Given the description of an element on the screen output the (x, y) to click on. 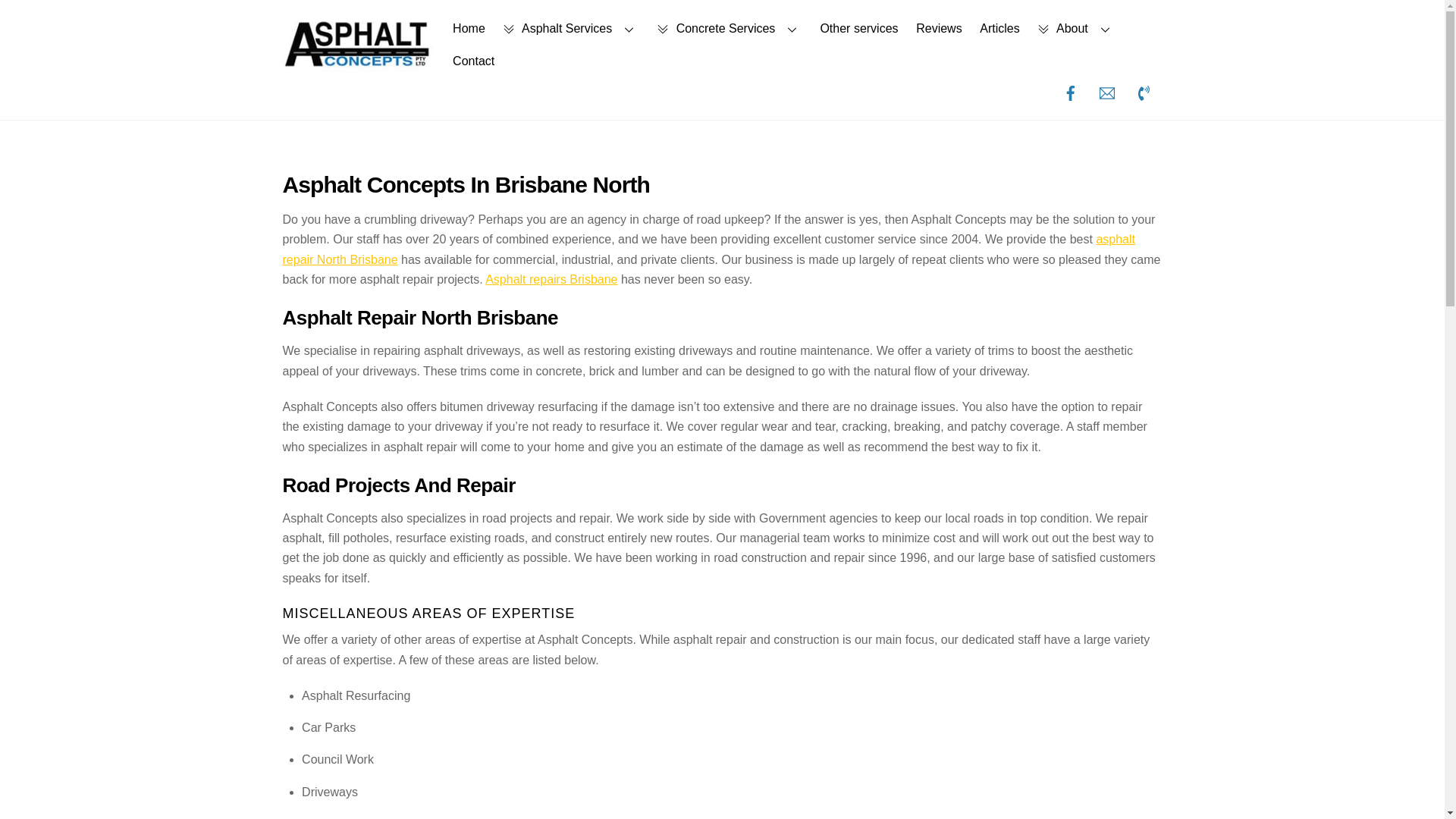
Reviews (938, 28)
Asphalt repairs Brisbane (550, 278)
Asphalt Services (571, 28)
asphalt repair North Brisbane (708, 248)
Contact (473, 60)
About (1076, 28)
Concrete Services (729, 28)
Articles (999, 28)
Other services (858, 28)
Home (469, 28)
Asphalt Concepts (357, 64)
